Given the description of an element on the screen output the (x, y) to click on. 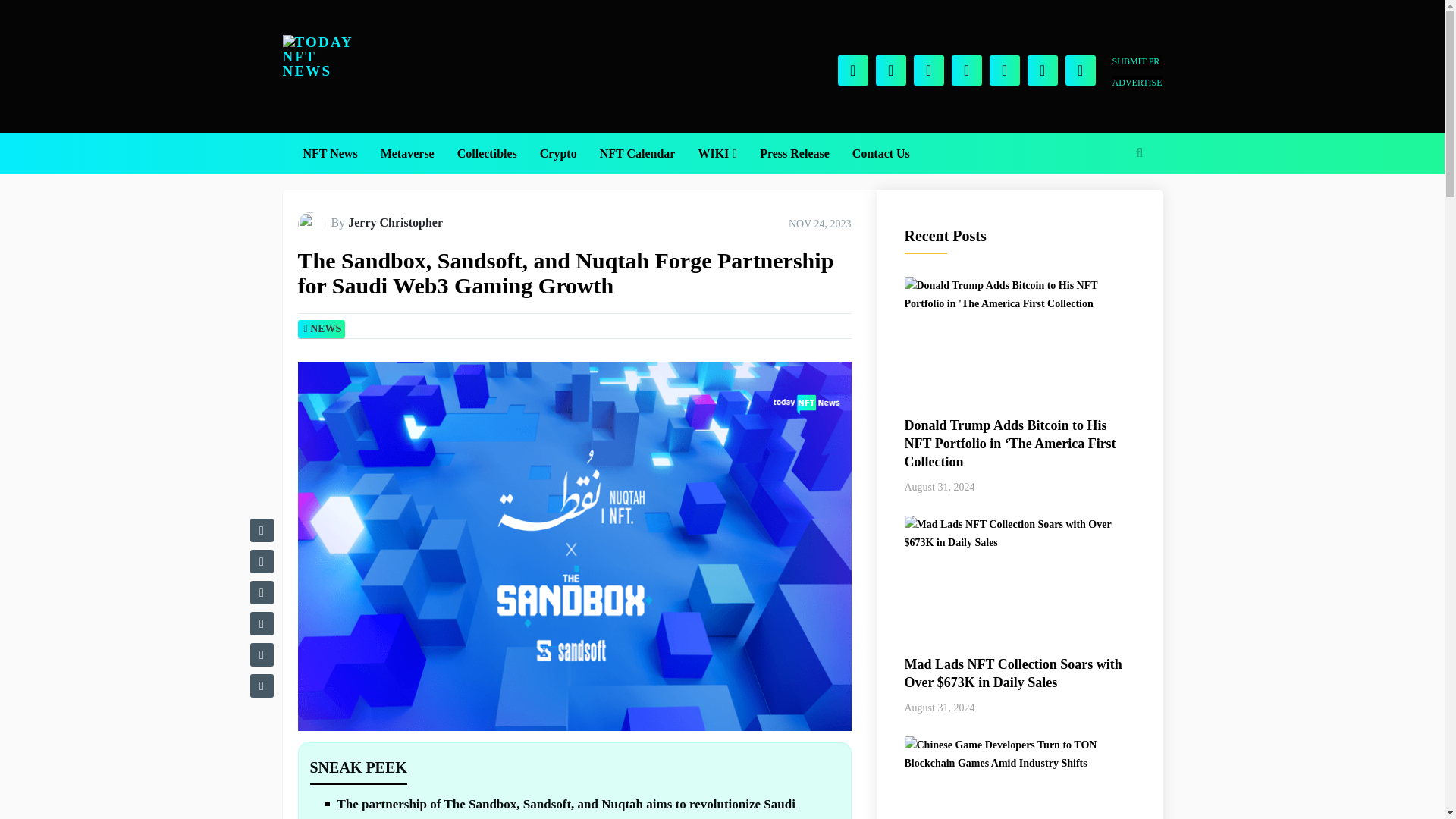
Press Release (794, 153)
View all posts in News (325, 328)
Metaverse (407, 153)
Jerry Christopher (394, 222)
Posts by Jerry Christopher (394, 222)
Contact Us (881, 153)
NEWS (325, 328)
Crypto (558, 153)
NFT Calendar (637, 153)
ADVERTISE (1136, 82)
